Given the description of an element on the screen output the (x, y) to click on. 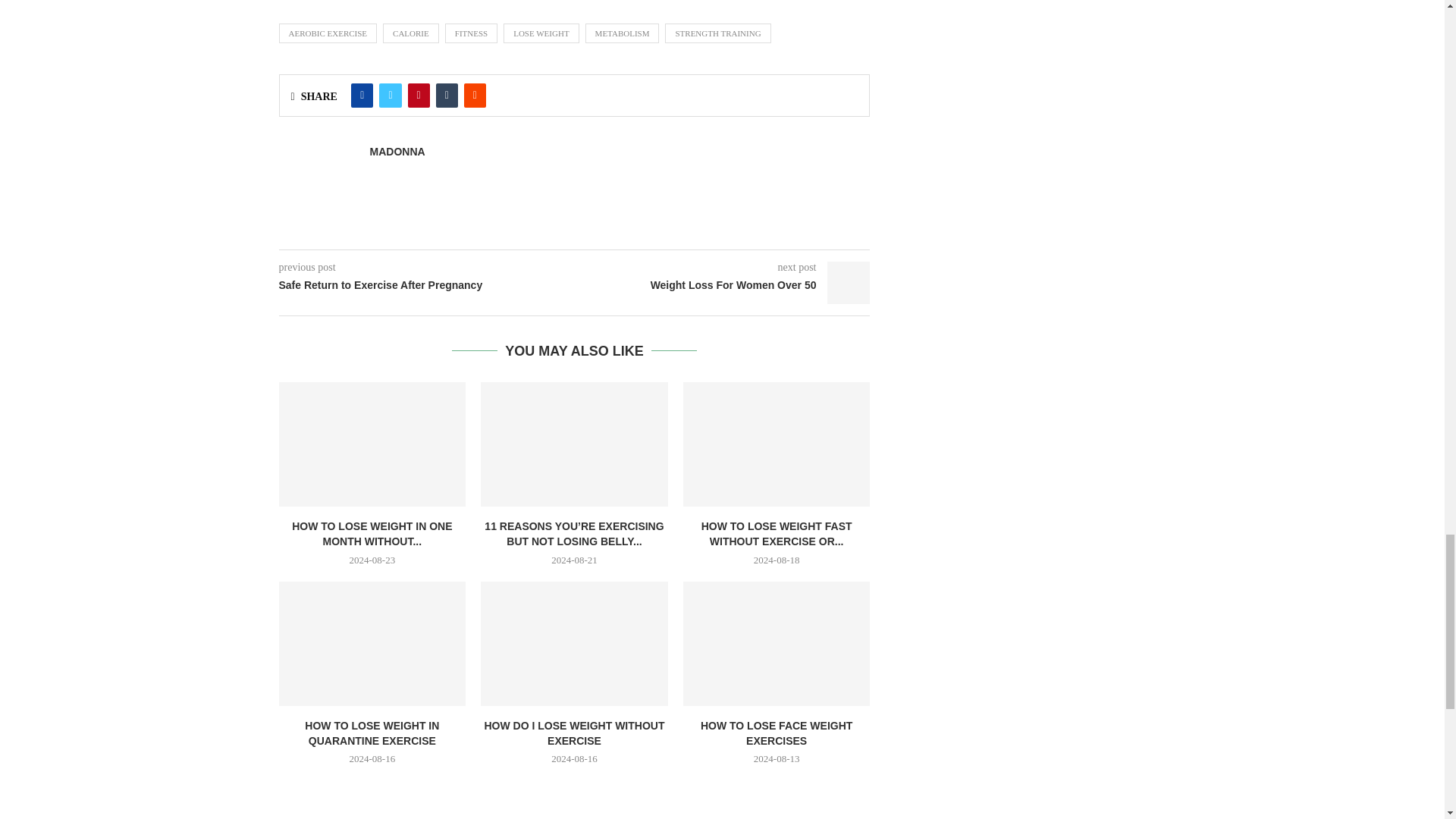
How Do I Lose Weight Without Exercise (574, 643)
How To Lose Weight In One Month Without Exercise (372, 444)
Author Madonna (397, 151)
How To Lose Face Weight Exercises (776, 643)
How To Lose Weight In Quarantine Exercise (372, 643)
How To Lose Weight Fast Without Exercise Or Pills (776, 444)
